Given the description of an element on the screen output the (x, y) to click on. 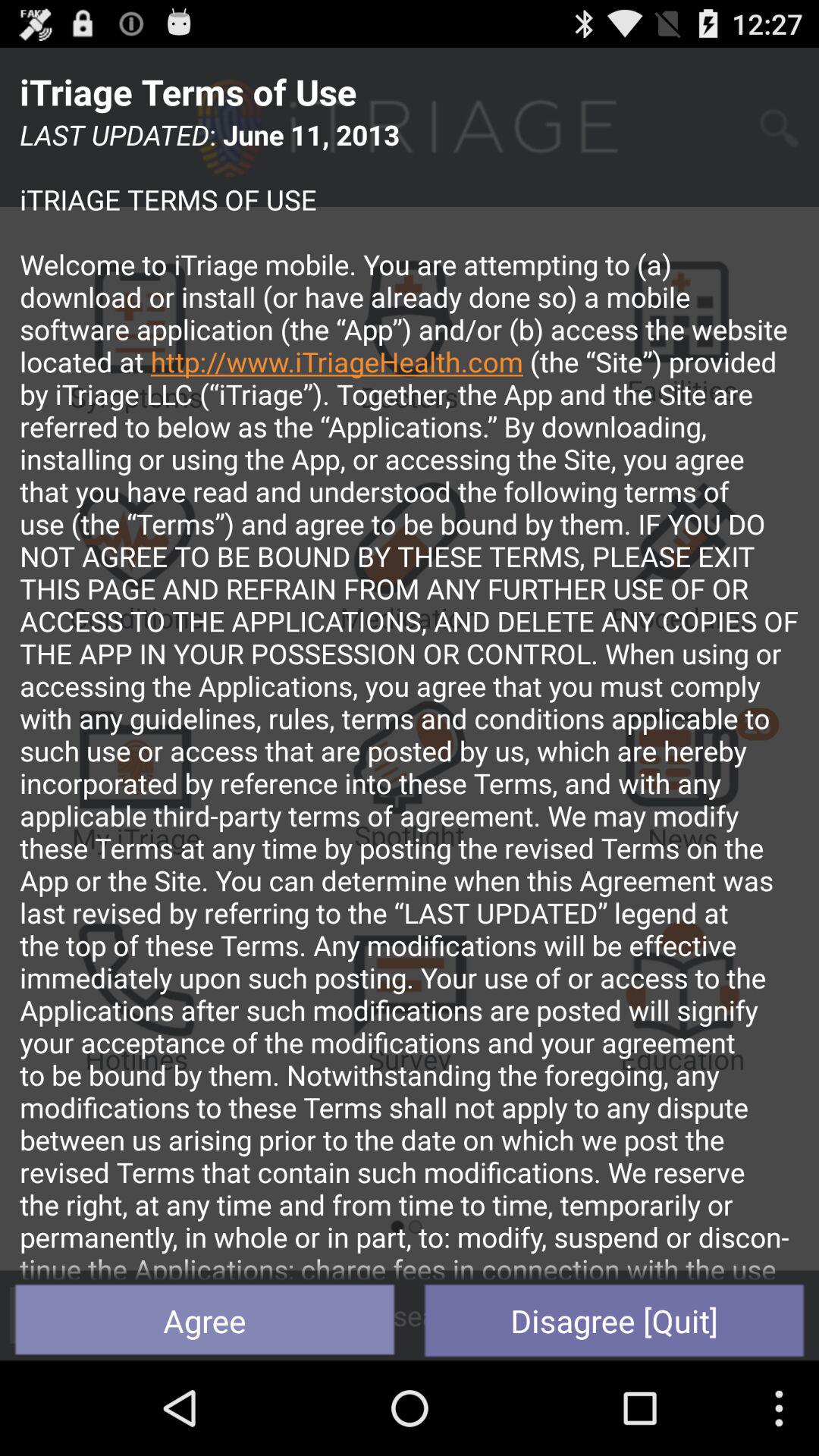
swipe to the agree (204, 1320)
